Given the description of an element on the screen output the (x, y) to click on. 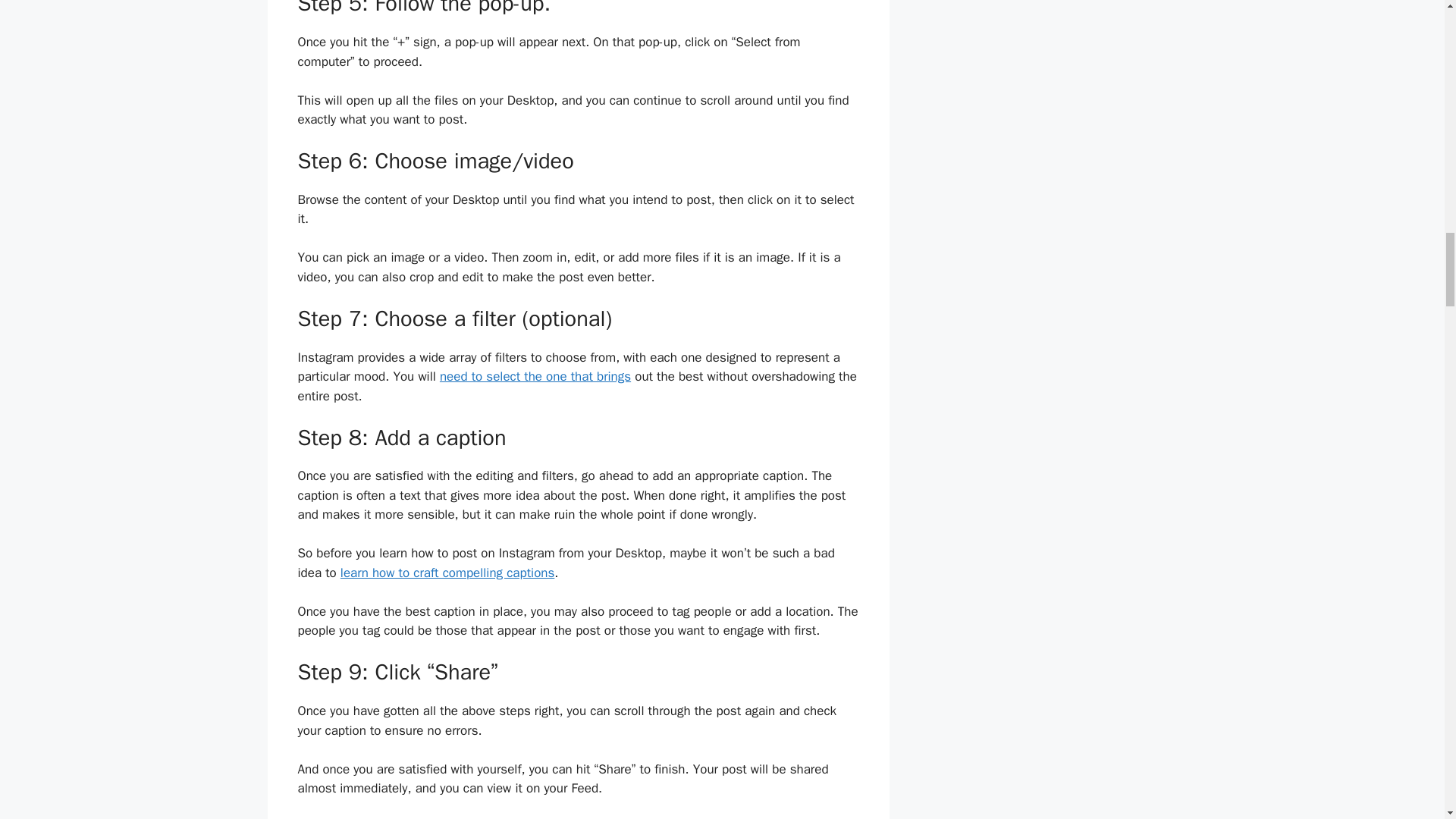
learn how to craft compelling captions (447, 572)
need to select the one that brings (534, 376)
